Given the description of an element on the screen output the (x, y) to click on. 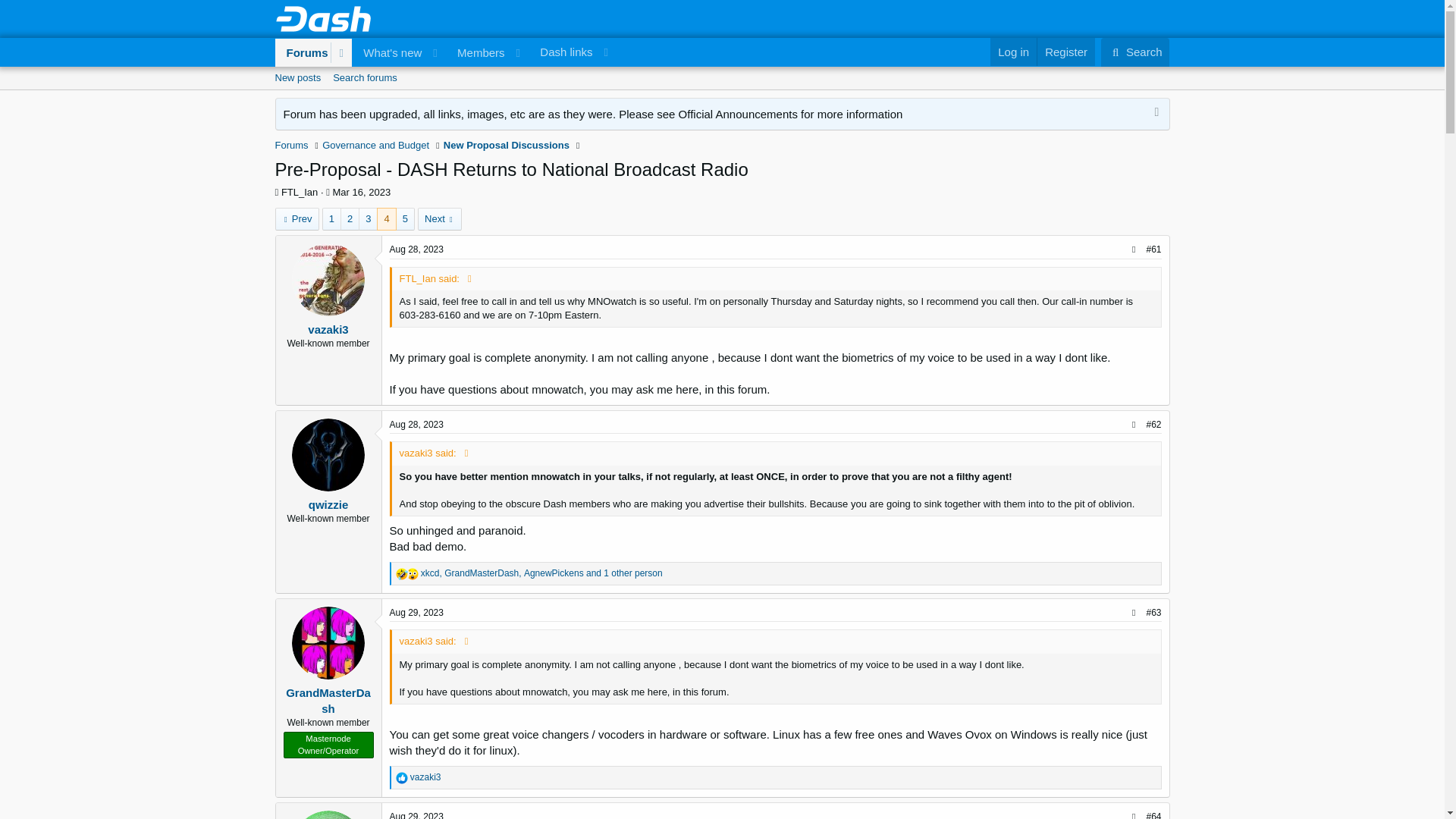
Wow (412, 573)
Forums (302, 52)
Prev (296, 219)
What's new (720, 94)
Dash links (388, 52)
Search forums (571, 51)
Haha (364, 77)
Log in (401, 573)
Mar 16, 2023 (1013, 51)
Search (362, 192)
Governance and Budget (1135, 51)
Aug 28, 2023 at 9:27 PM (375, 145)
Aug 29, 2023 at 4:10 AM (417, 424)
New posts (417, 612)
